Given the description of an element on the screen output the (x, y) to click on. 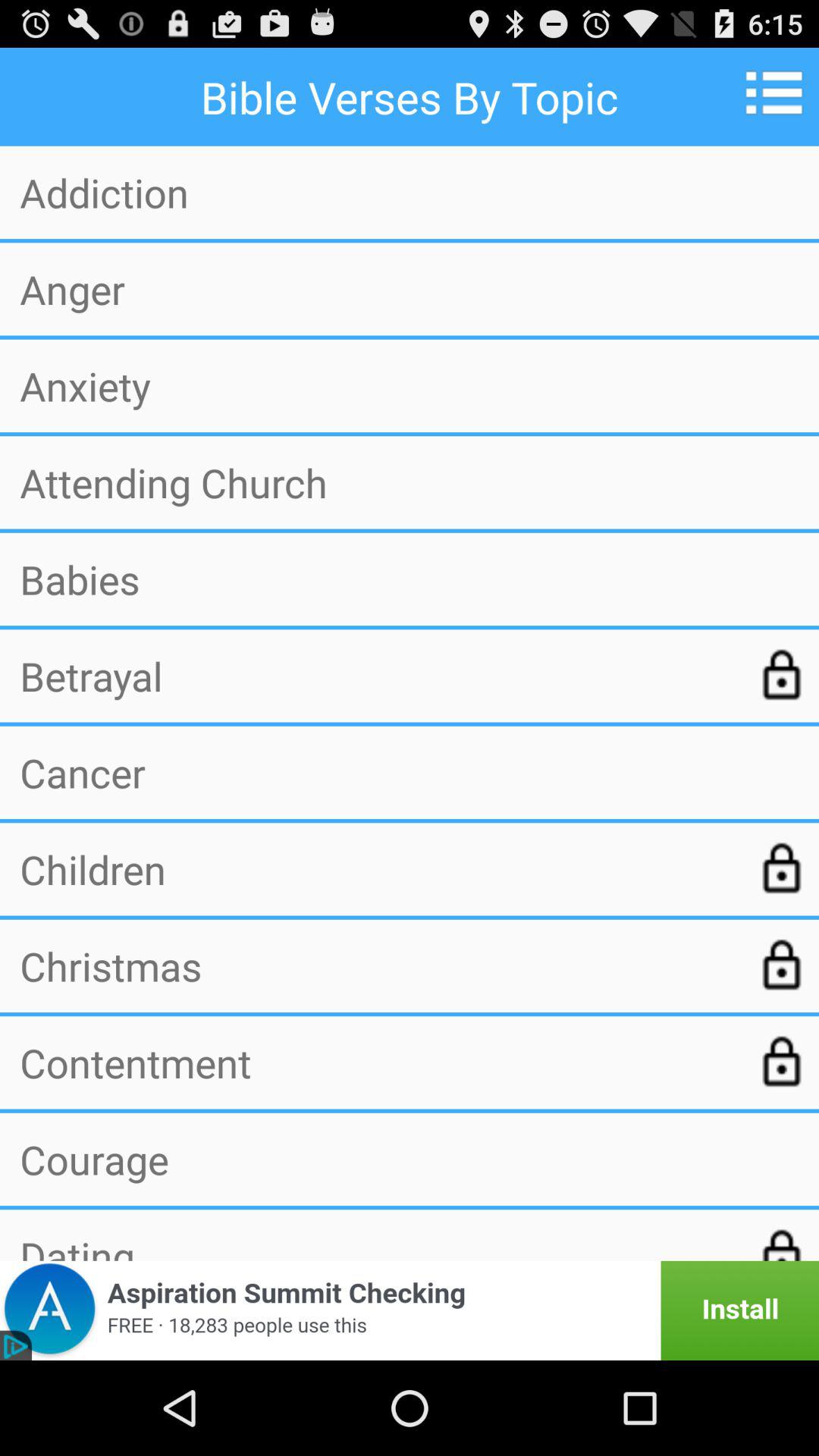
open page installation of sponsored app (409, 1310)
